Given the description of an element on the screen output the (x, y) to click on. 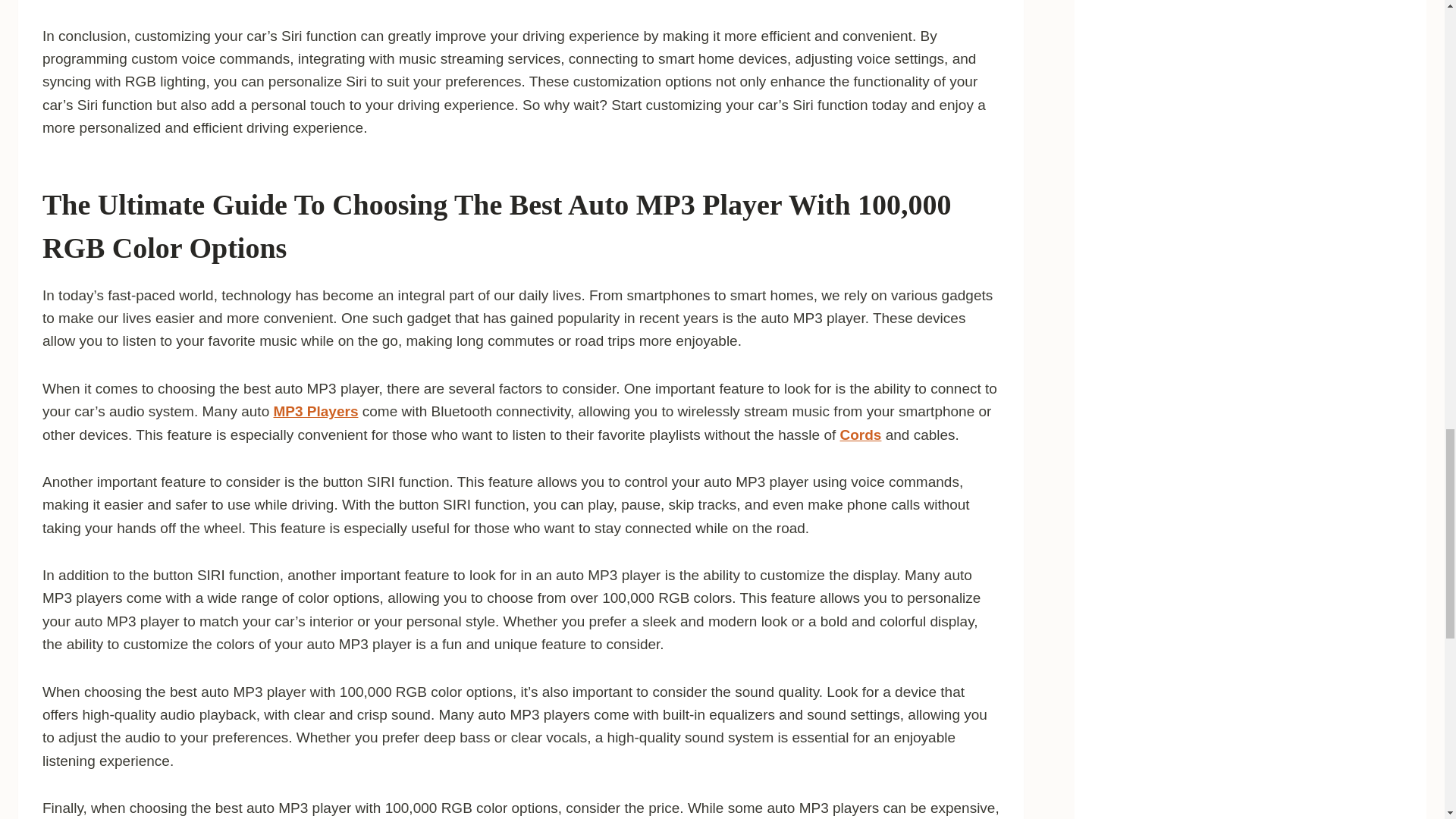
Cords (861, 434)
MP3 Players (315, 411)
